Given the description of an element on the screen output the (x, y) to click on. 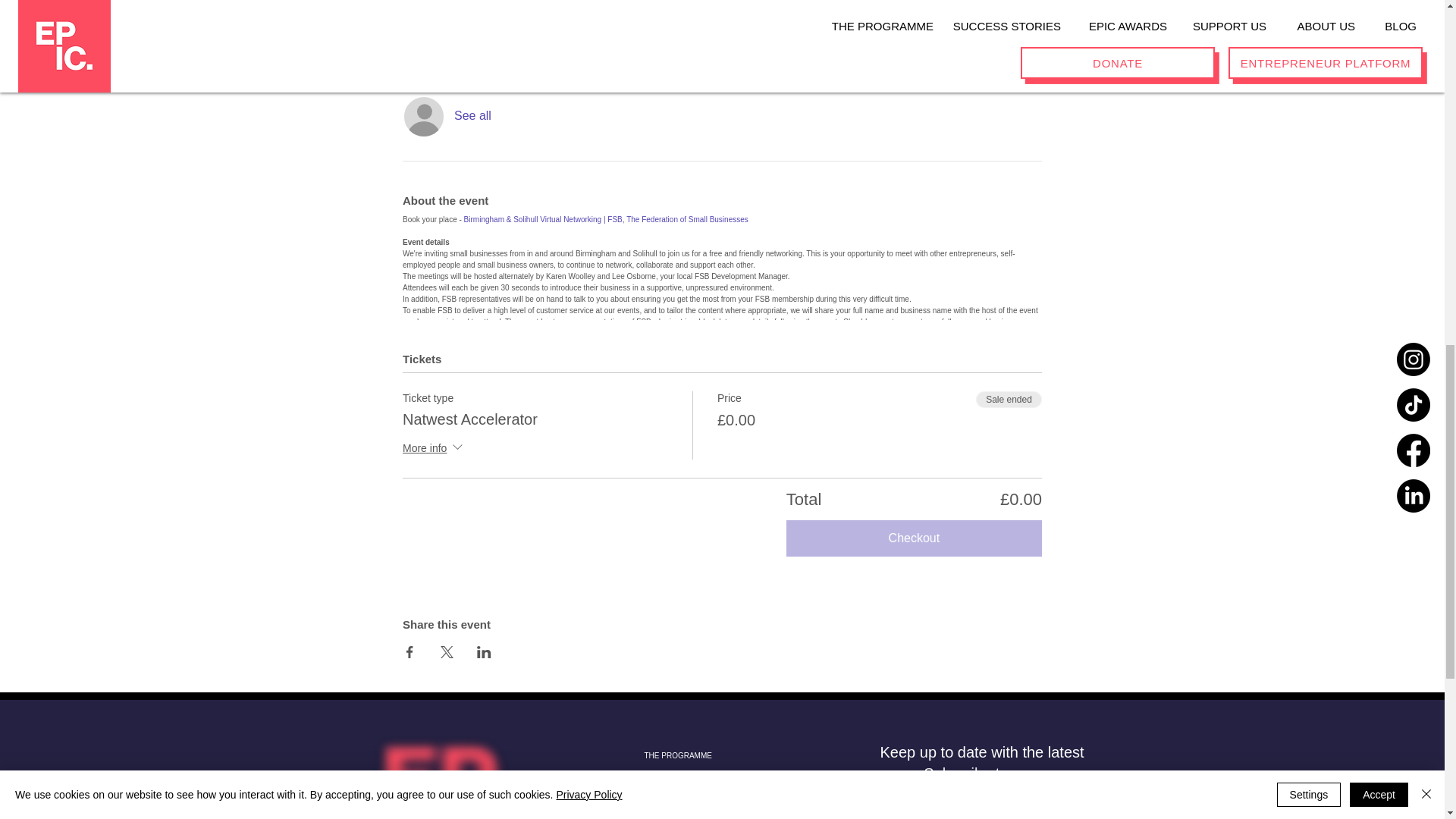
Checkout (914, 538)
SUCCESS STORIES (706, 784)
See all (473, 115)
EPIC AWARDS (706, 809)
More info (434, 448)
THE PROGRAMME (706, 756)
